Given the description of an element on the screen output the (x, y) to click on. 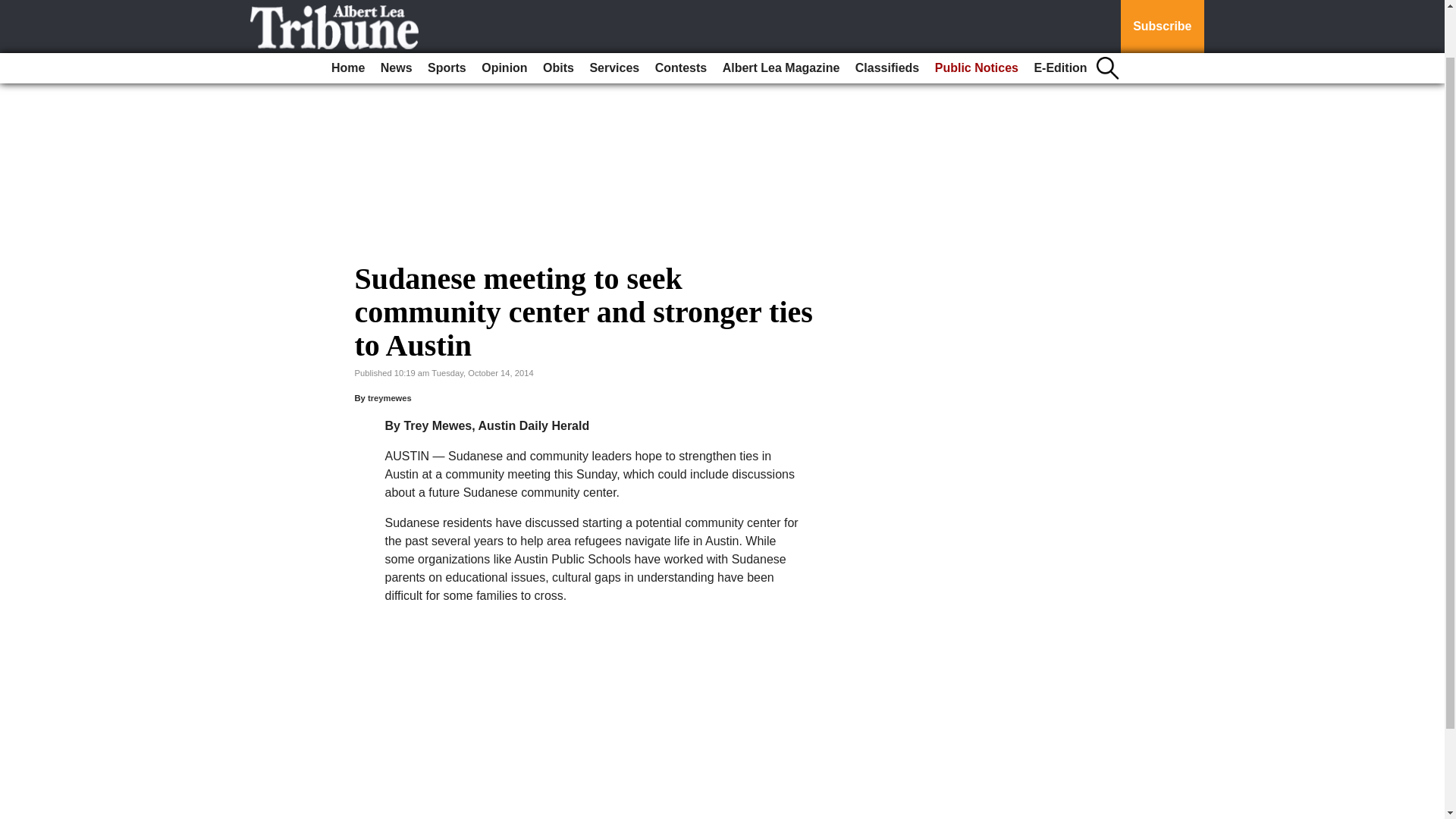
Opinion (504, 13)
Obits (558, 13)
News (396, 13)
Sports (446, 13)
Services (614, 13)
Home (347, 13)
